Given the description of an element on the screen output the (x, y) to click on. 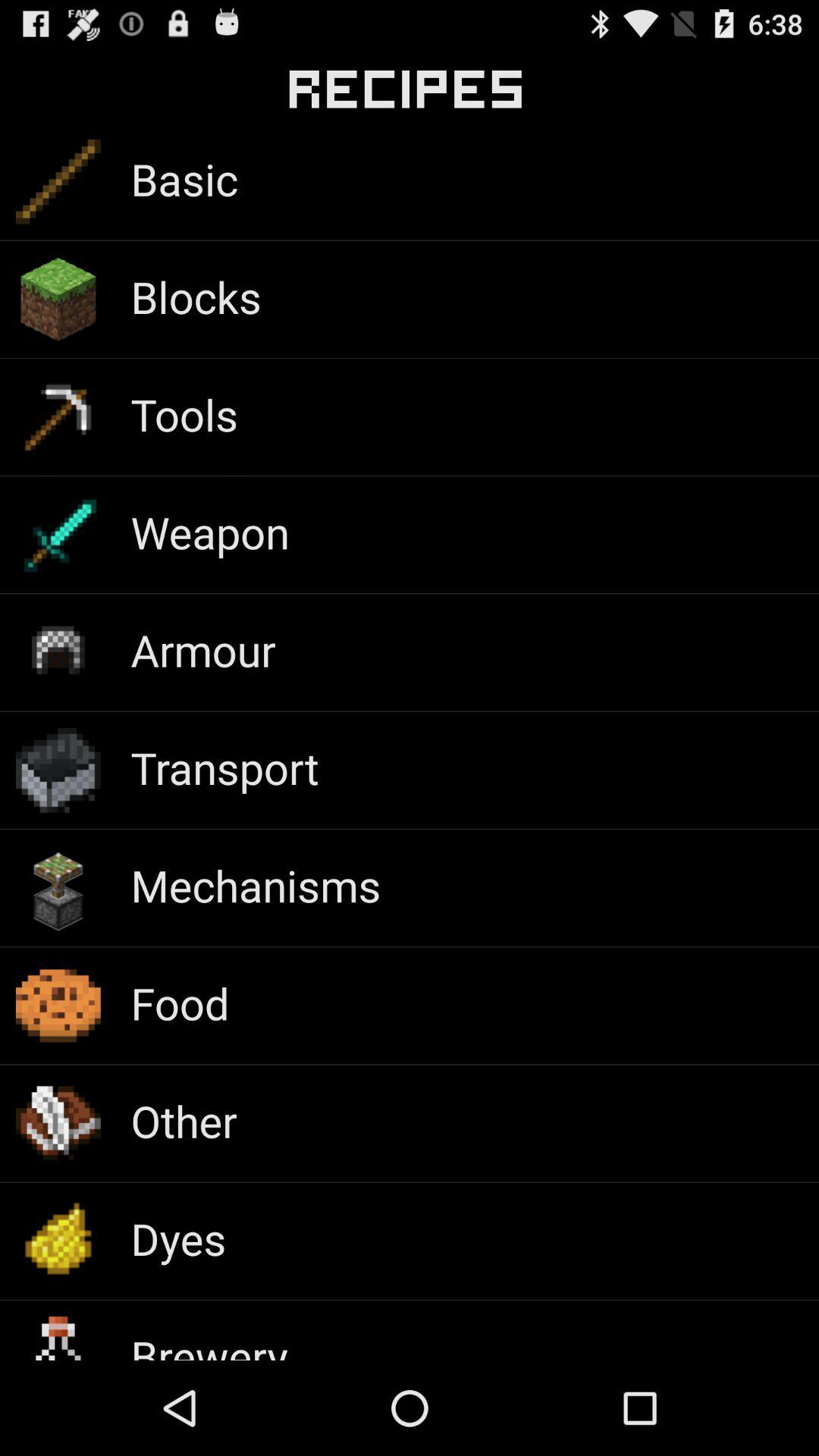
turn off icon above the blocks app (184, 178)
